Given the description of an element on the screen output the (x, y) to click on. 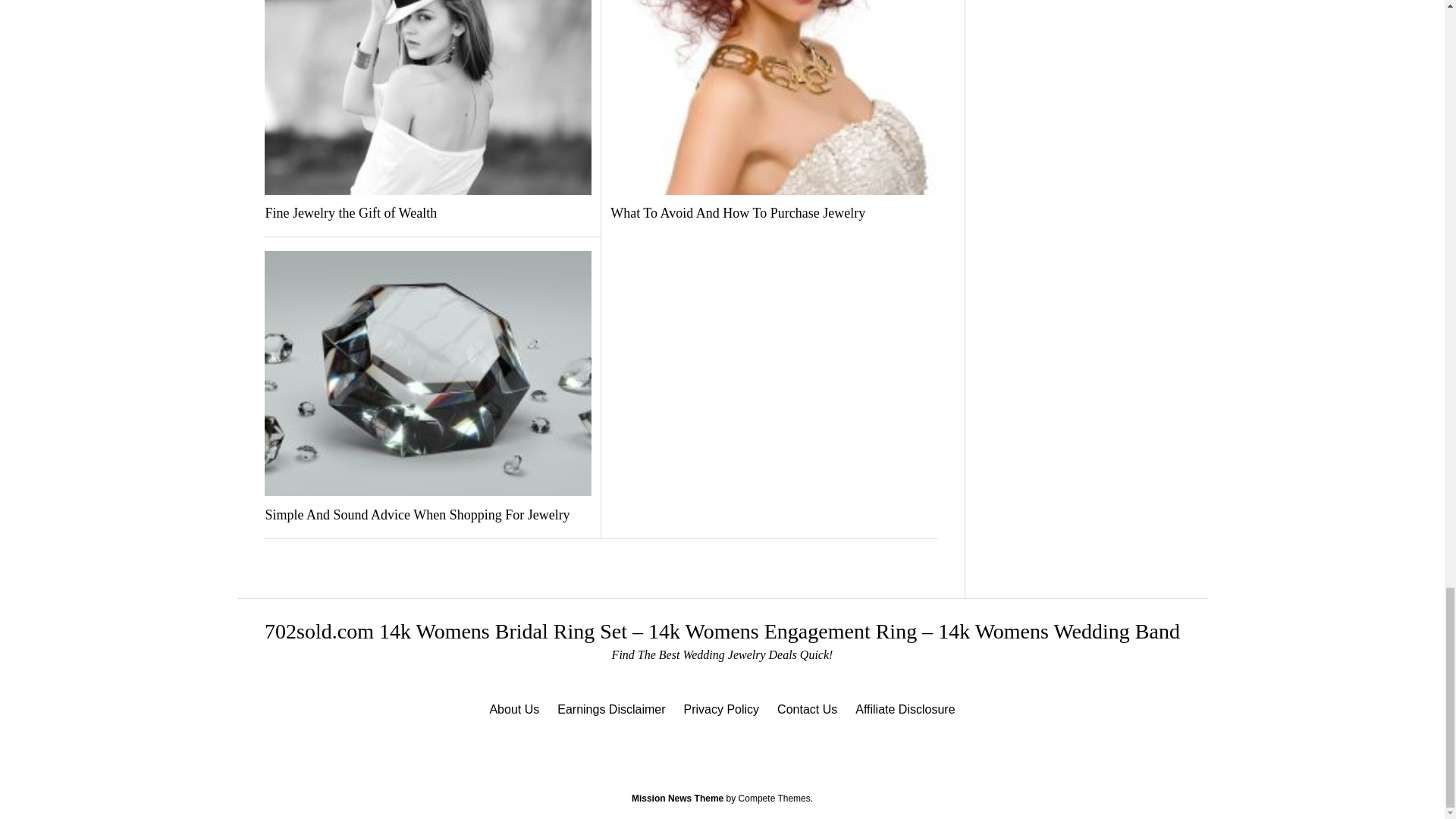
What To Avoid And How To Purchase Jewelry (773, 213)
Simple And Sound Advice When Shopping For Jewelry (427, 515)
Fine Jewelry the Gift of Wealth (427, 213)
